Given the description of an element on the screen output the (x, y) to click on. 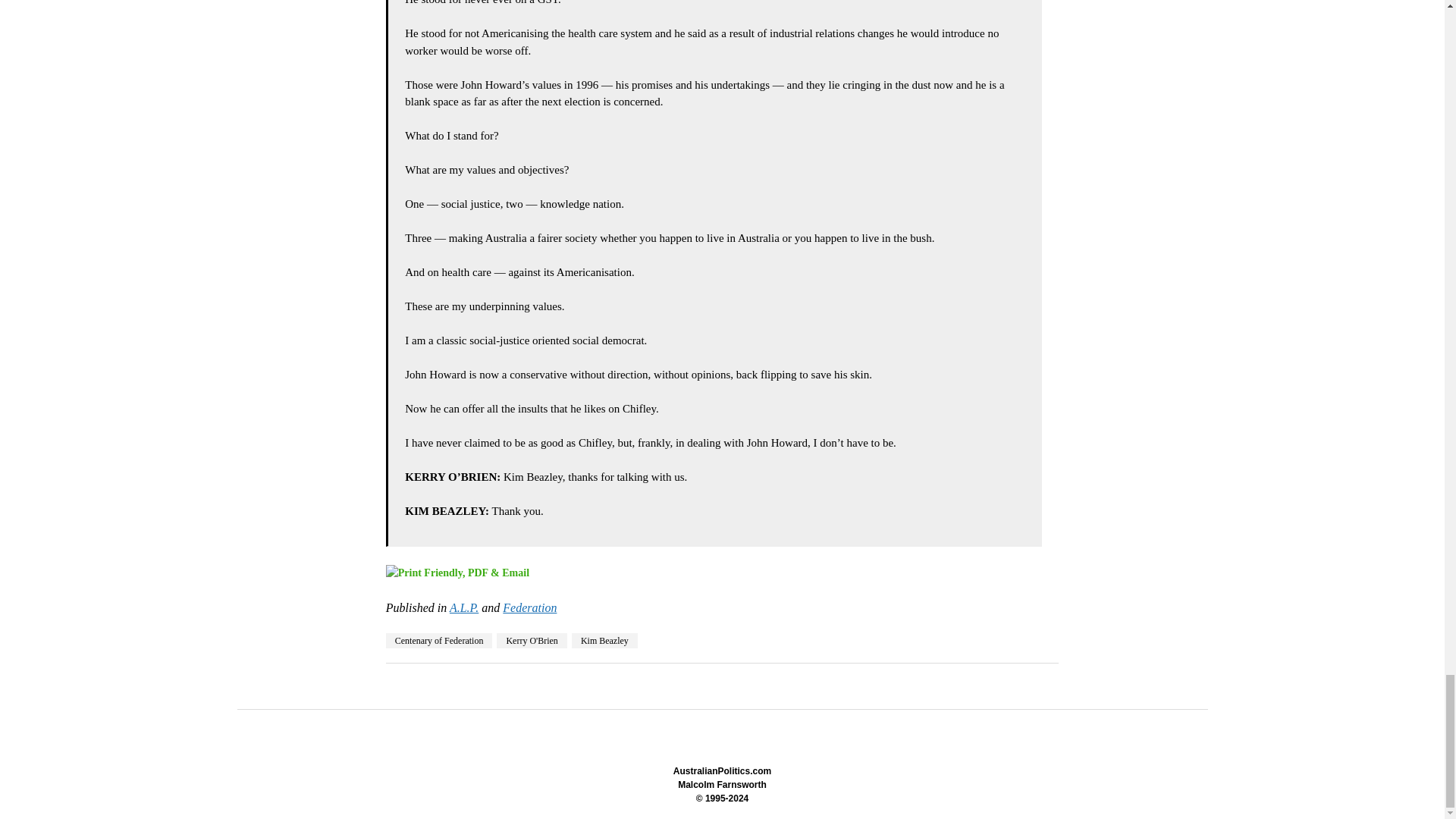
View all posts tagged Centenary of Federation (439, 640)
View all posts tagged Kim Beazley (604, 640)
View all posts in A.L.P. (464, 607)
View all posts in Federation (529, 607)
View all posts tagged Kerry O'Brien (531, 640)
